Given the description of an element on the screen output the (x, y) to click on. 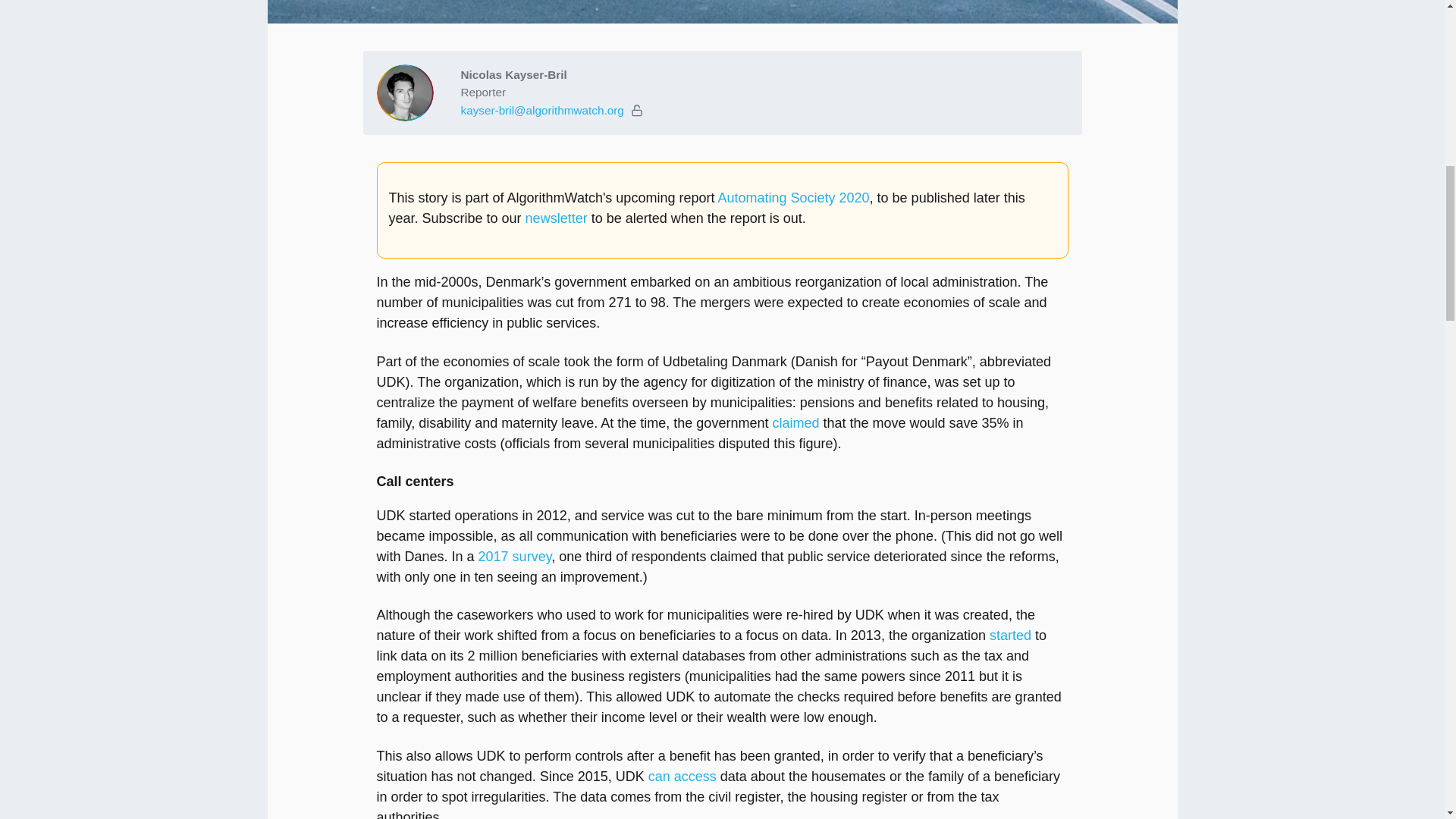
Automating Society 2020 (793, 197)
newsletter (556, 218)
claimed (794, 422)
2017 survey (515, 556)
